Given the description of an element on the screen output the (x, y) to click on. 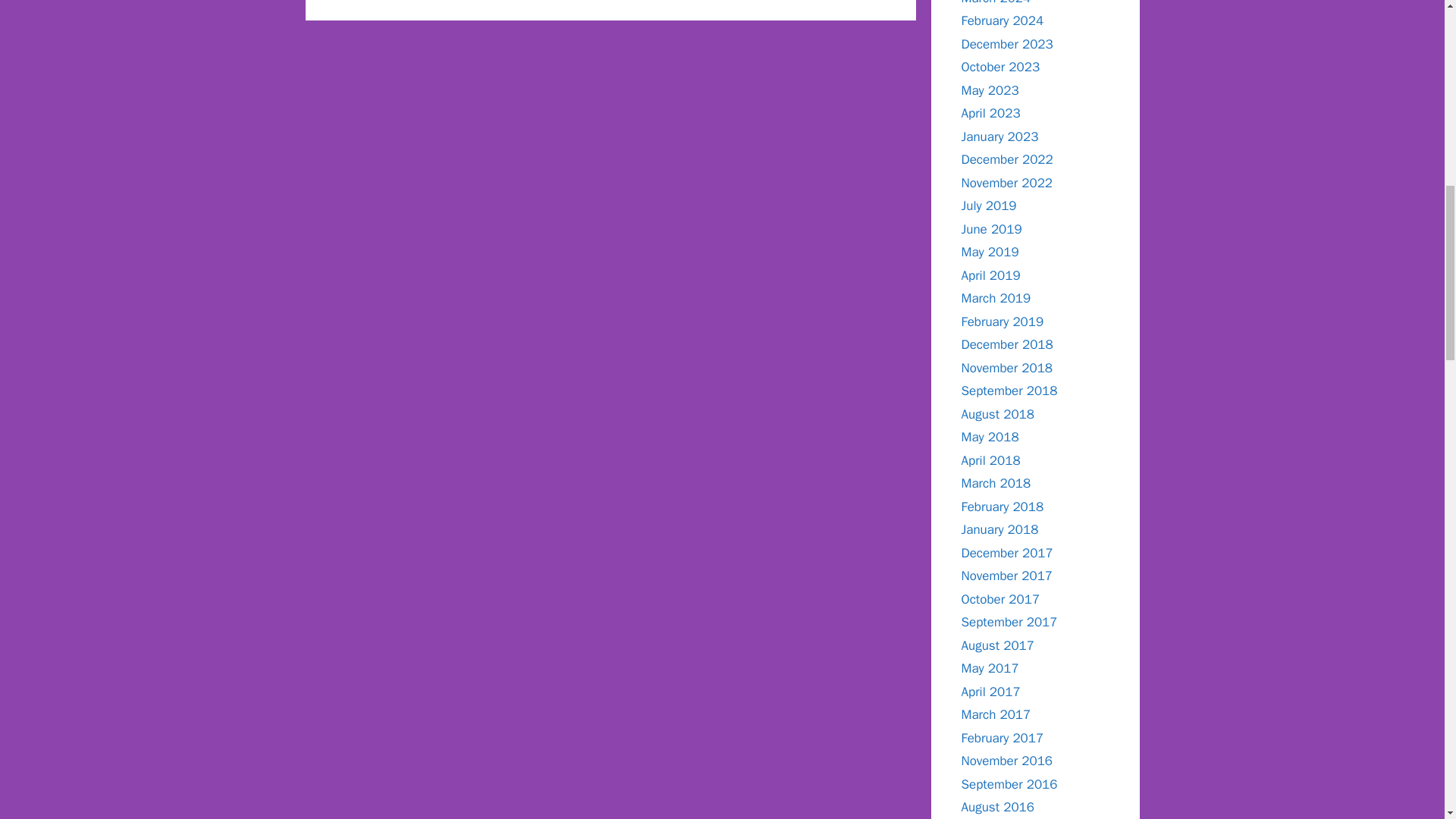
December 2022 (1006, 159)
September 2018 (1009, 390)
April 2019 (990, 274)
May 2023 (989, 89)
November 2022 (1006, 182)
June 2019 (991, 229)
November 2018 (1006, 367)
December 2018 (1006, 344)
March 2024 (995, 2)
January 2018 (999, 529)
February 2024 (1001, 20)
October 2023 (1000, 66)
January 2023 (999, 136)
February 2018 (1001, 506)
March 2018 (995, 483)
